Given the description of an element on the screen output the (x, y) to click on. 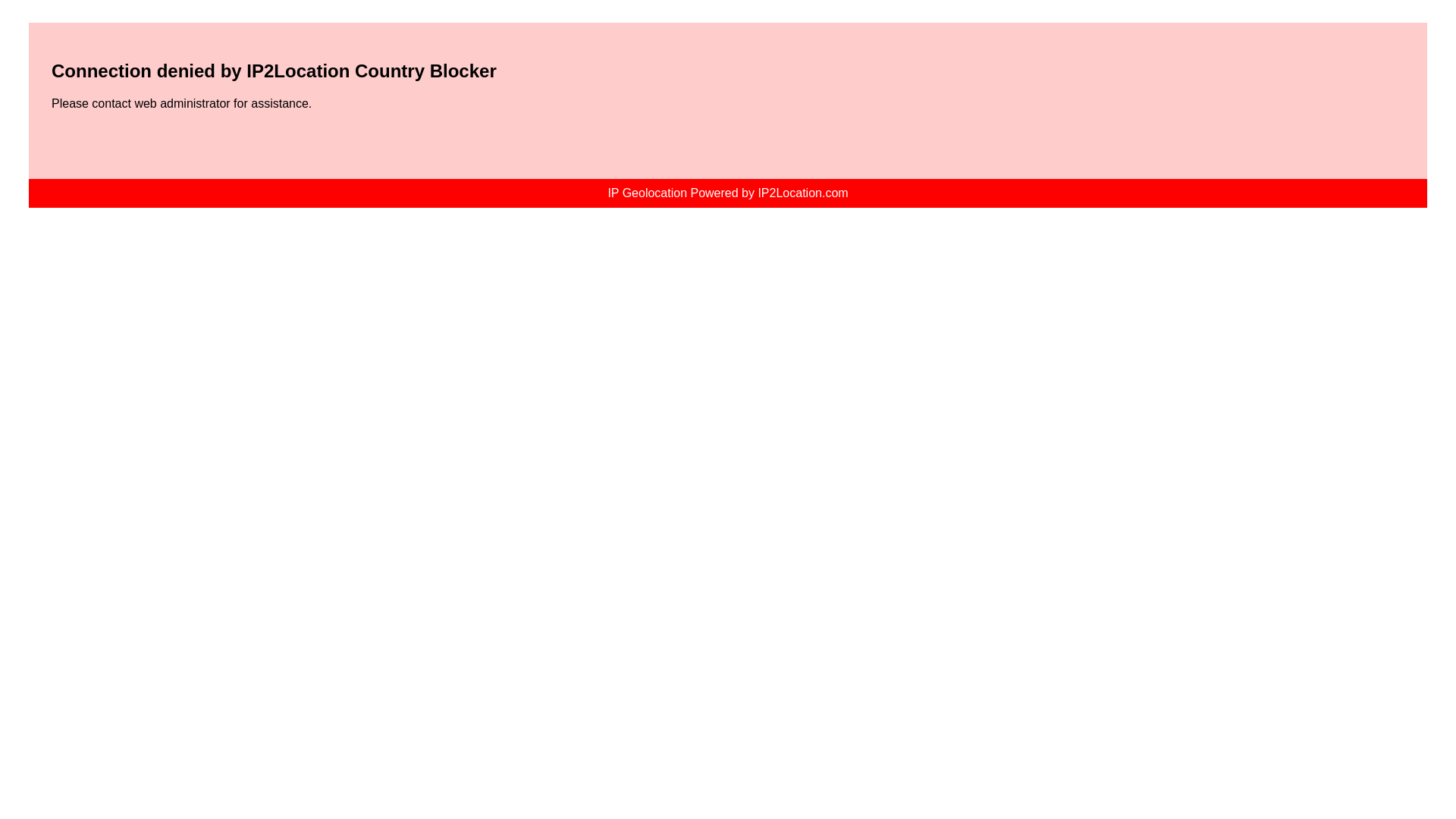
IP Geolocation Powered by IP2Location.com Element type: text (727, 192)
